Given the description of an element on the screen output the (x, y) to click on. 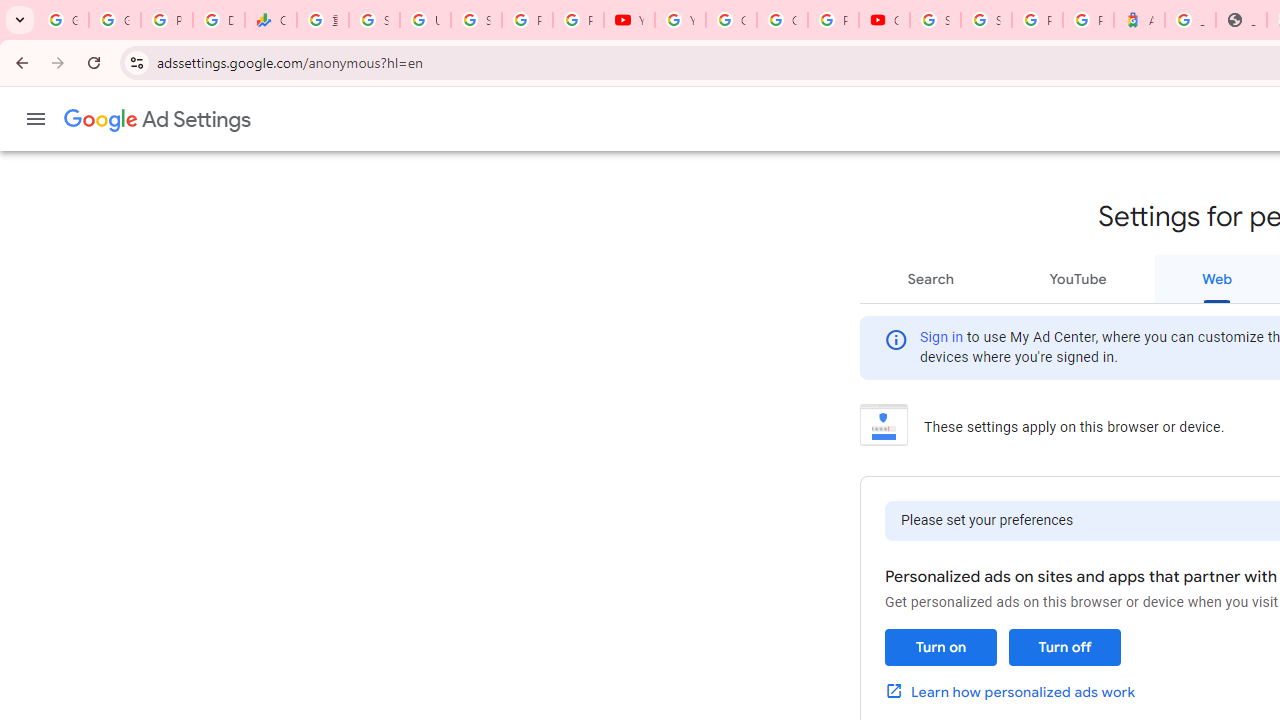
Search (931, 278)
Sign in - Google Accounts (374, 20)
Turn ads based on your interests on. (940, 647)
Sign in - Google Accounts (986, 20)
Turn ads based on your interests off. (1064, 647)
Sign in - Google Accounts (935, 20)
YouTube (1077, 278)
